Given the description of an element on the screen output the (x, y) to click on. 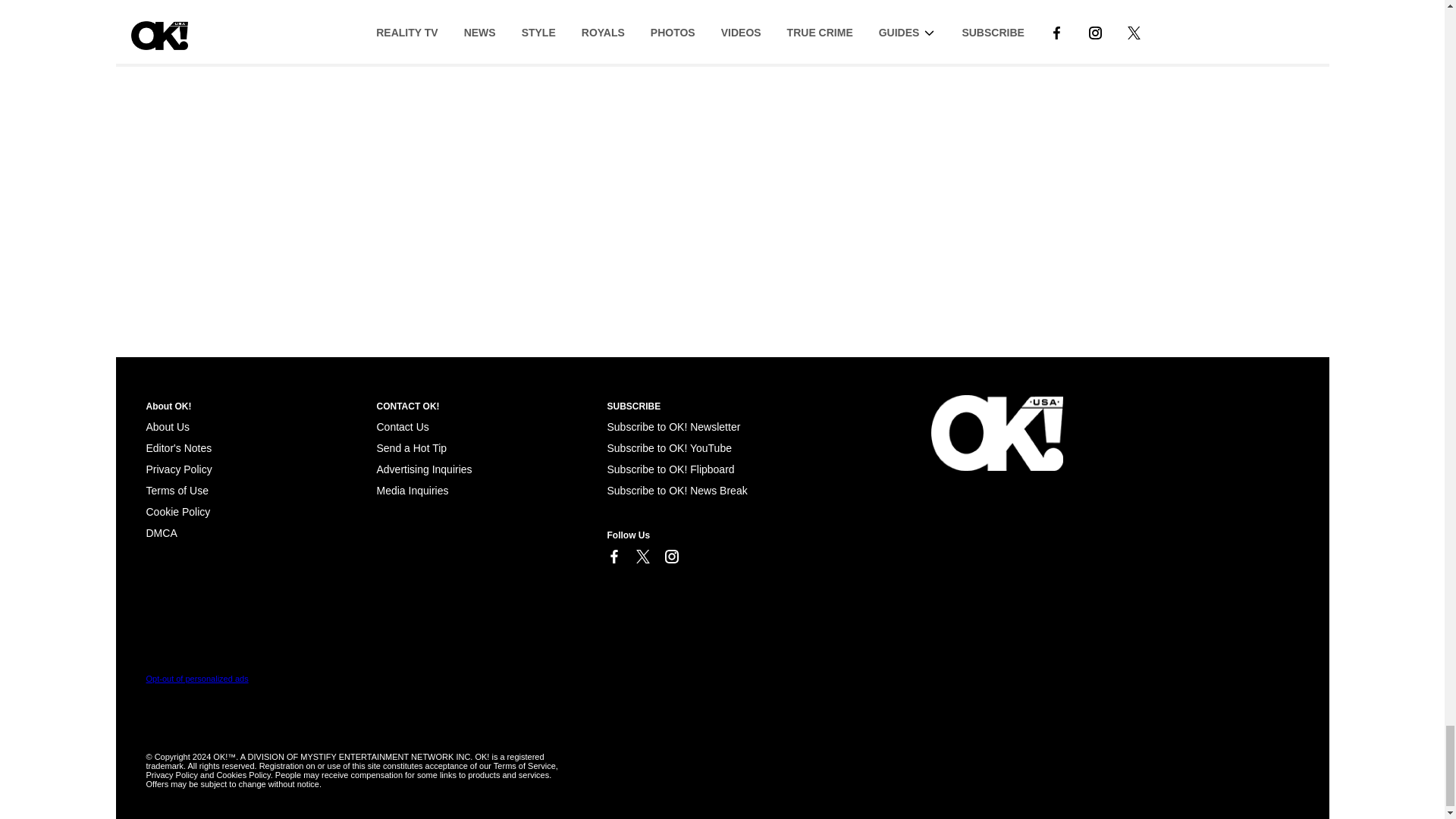
Link to Instagram (670, 556)
Editor's Notes (178, 448)
Cookie Policy (177, 511)
Terms of Use (176, 490)
Privacy Policy (178, 469)
Cookie Policy (160, 532)
Link to X (641, 556)
Link to Facebook (613, 556)
About Us (167, 426)
